Given the description of an element on the screen output the (x, y) to click on. 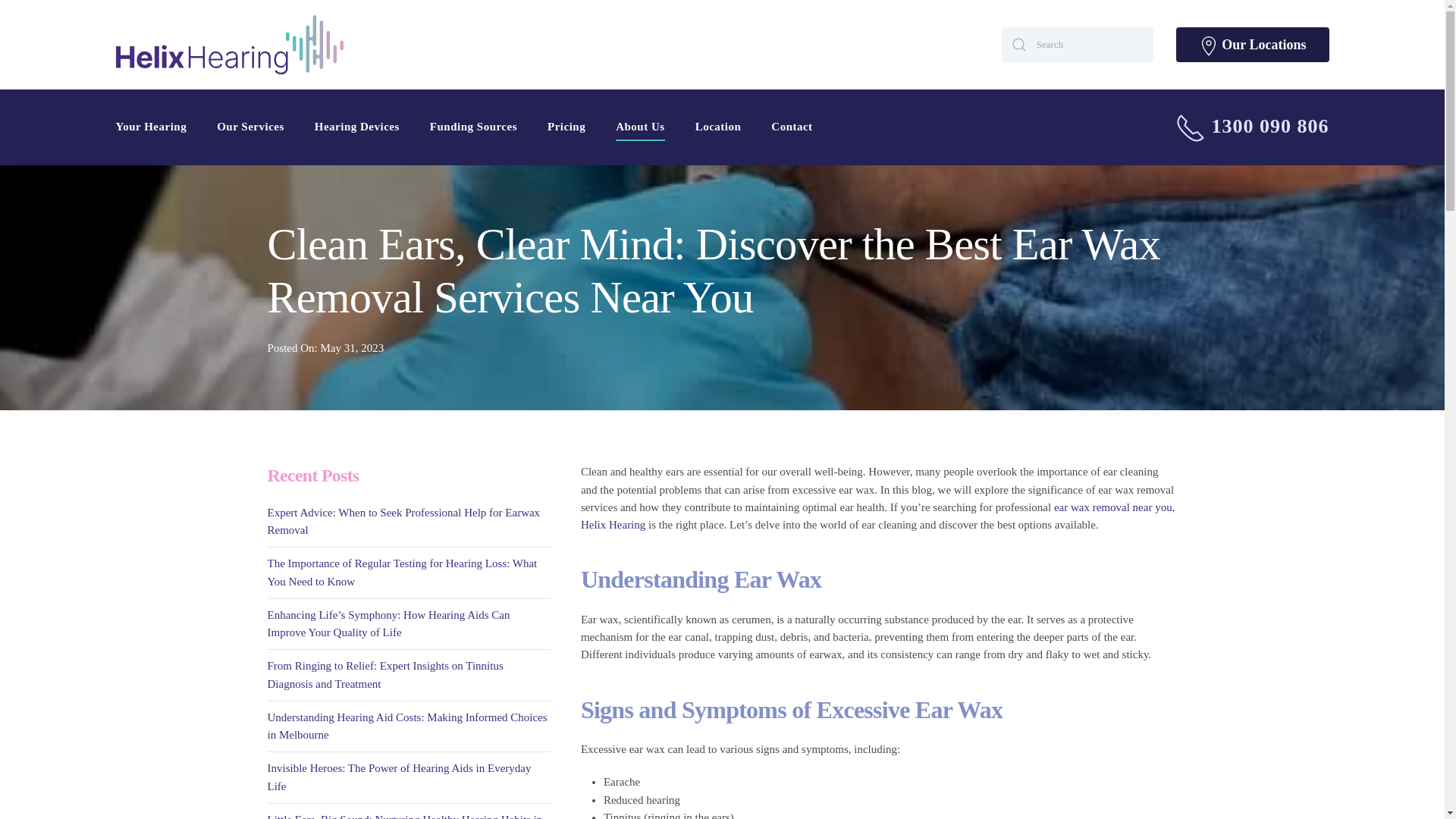
Our Locations (1252, 44)
Your Hearing (150, 127)
Our Services (249, 127)
Hearing Devices (356, 127)
Helix Hearing (612, 524)
Funding Sources (472, 127)
ear wax removal near you (1113, 507)
